Given the description of an element on the screen output the (x, y) to click on. 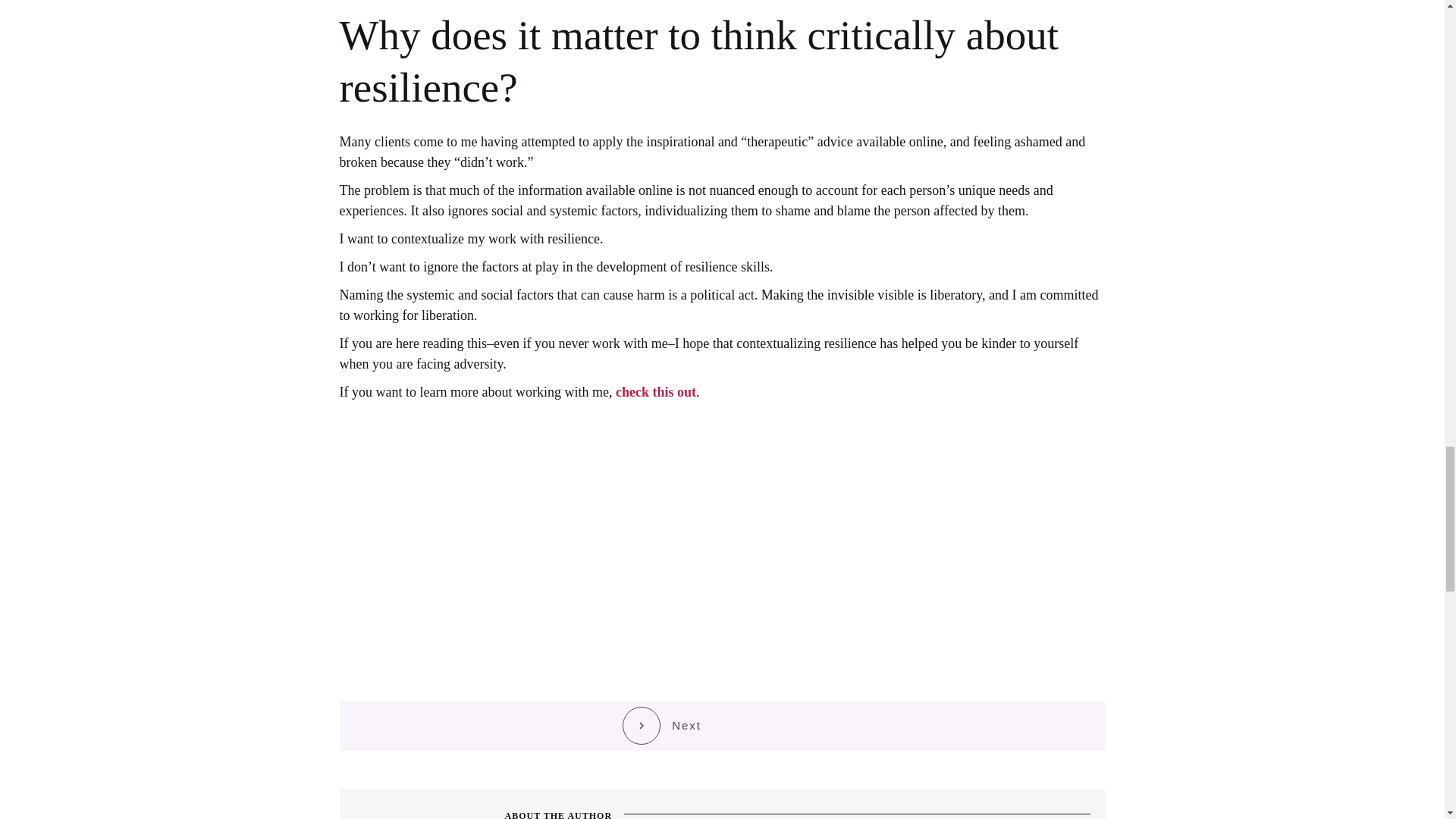
Next (662, 725)
check this out (655, 391)
